Given the description of an element on the screen output the (x, y) to click on. 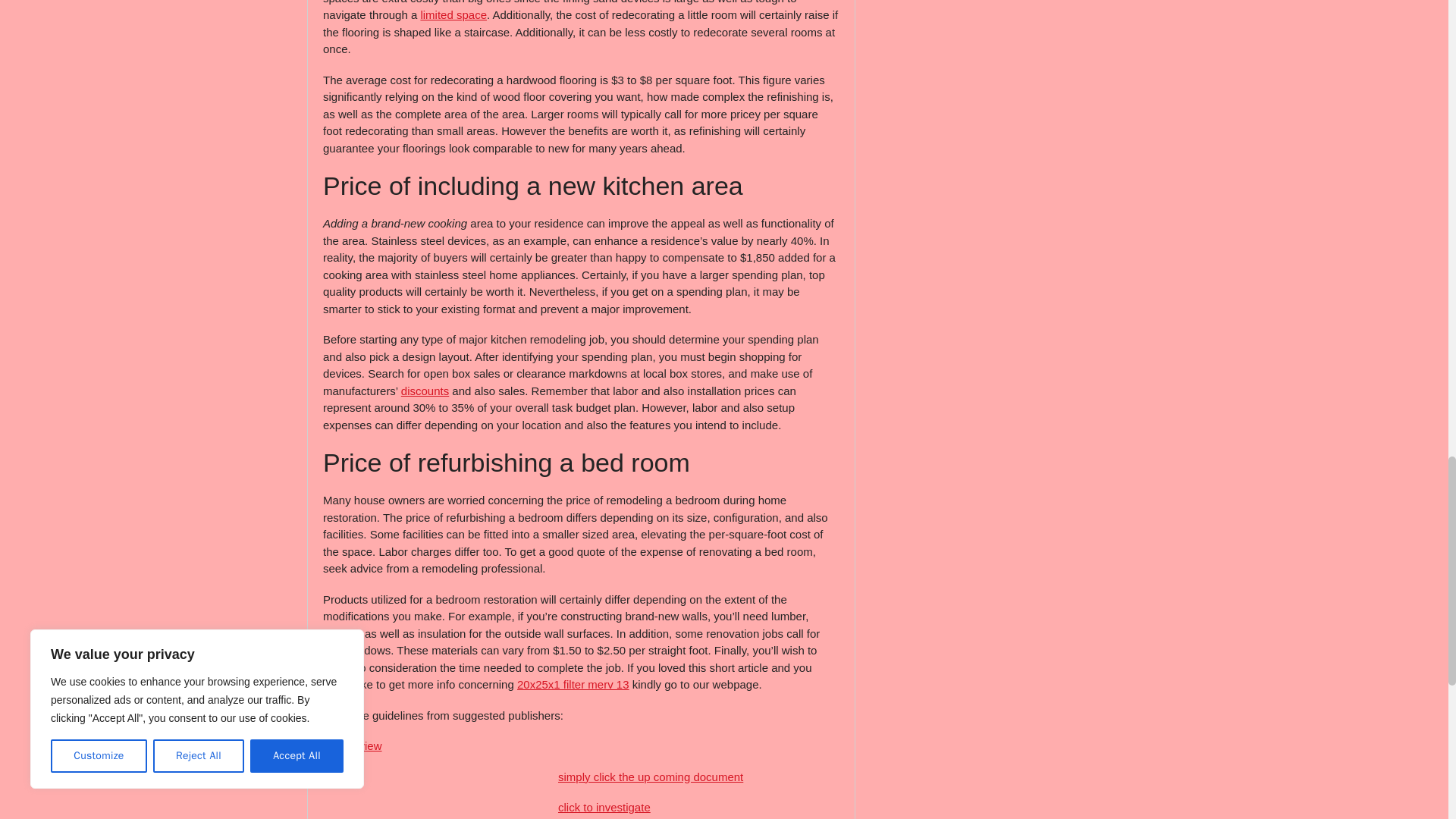
simply click the up coming document (649, 776)
20x25x1 filter merv 13 (572, 684)
Full Review (352, 745)
discounts (424, 390)
limited space (453, 14)
click to investigate (603, 807)
